Given the description of an element on the screen output the (x, y) to click on. 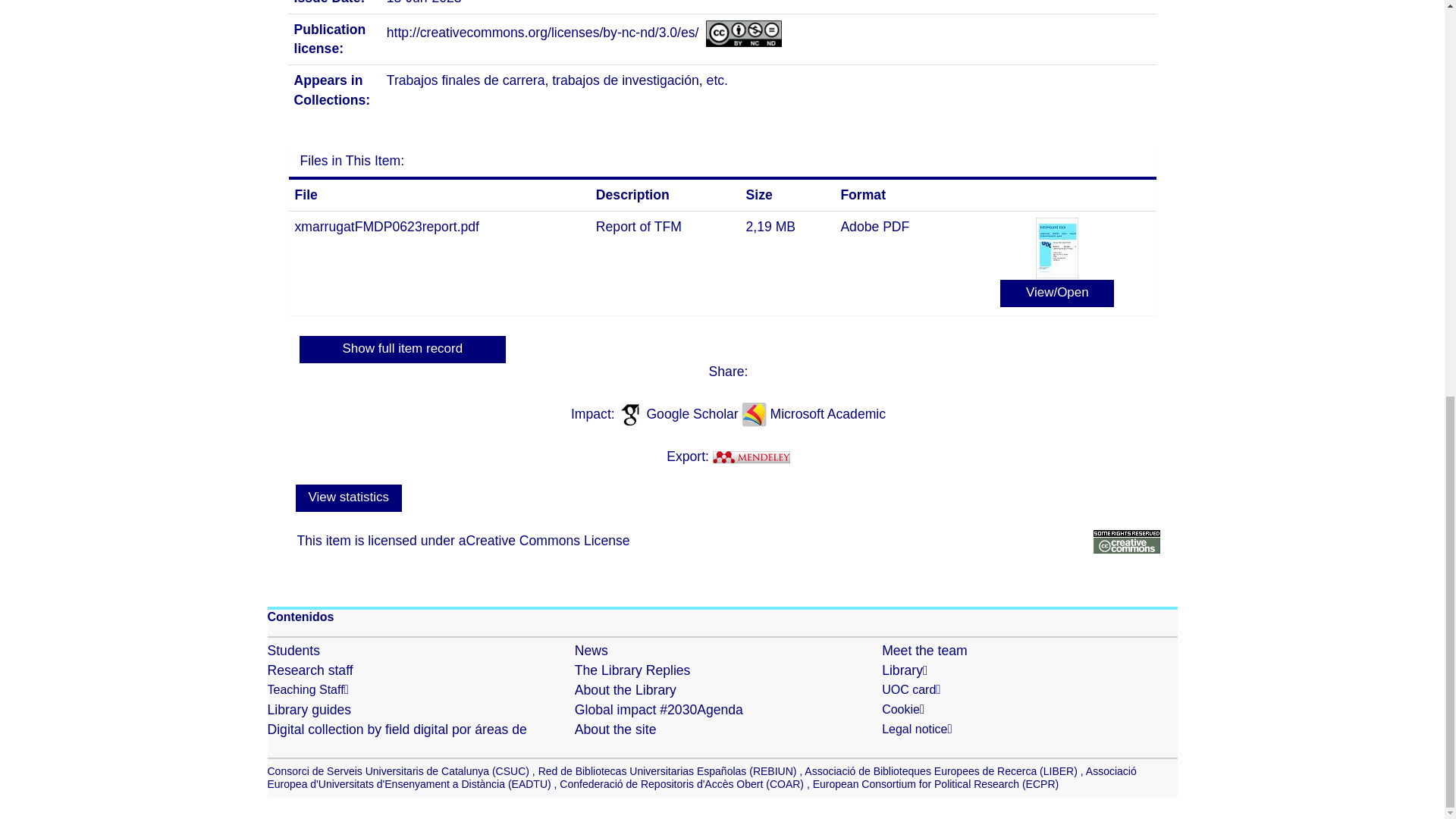
Google Scholar (693, 412)
Show full item record (401, 349)
Microsoft Academic (828, 412)
Microsoft Academic (828, 412)
Google Scholar (693, 412)
xmarrugatFMDP0623report.pdf (386, 226)
